Given the description of an element on the screen output the (x, y) to click on. 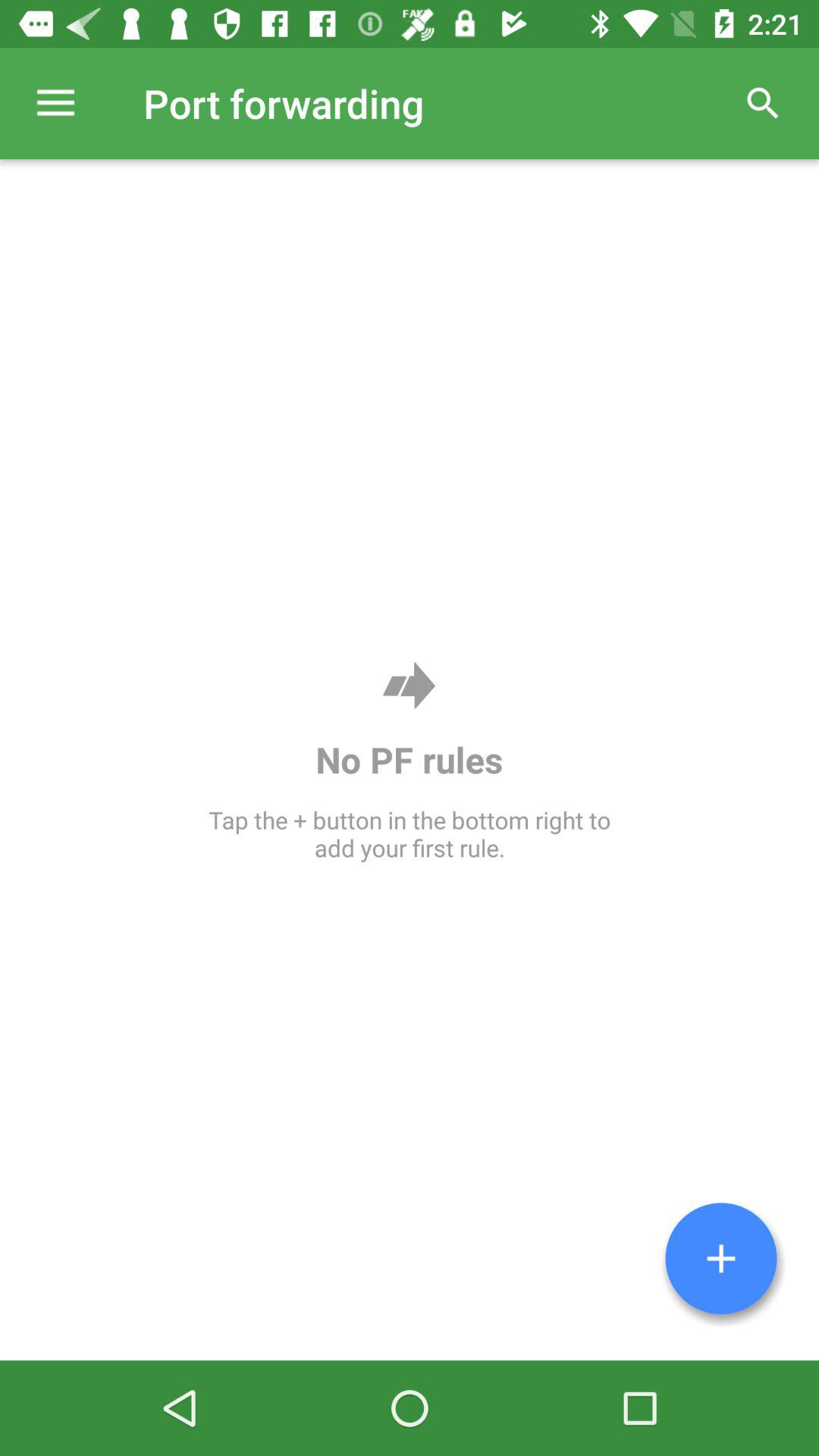
turn off the item to the right of port forwarding (763, 103)
